Given the description of an element on the screen output the (x, y) to click on. 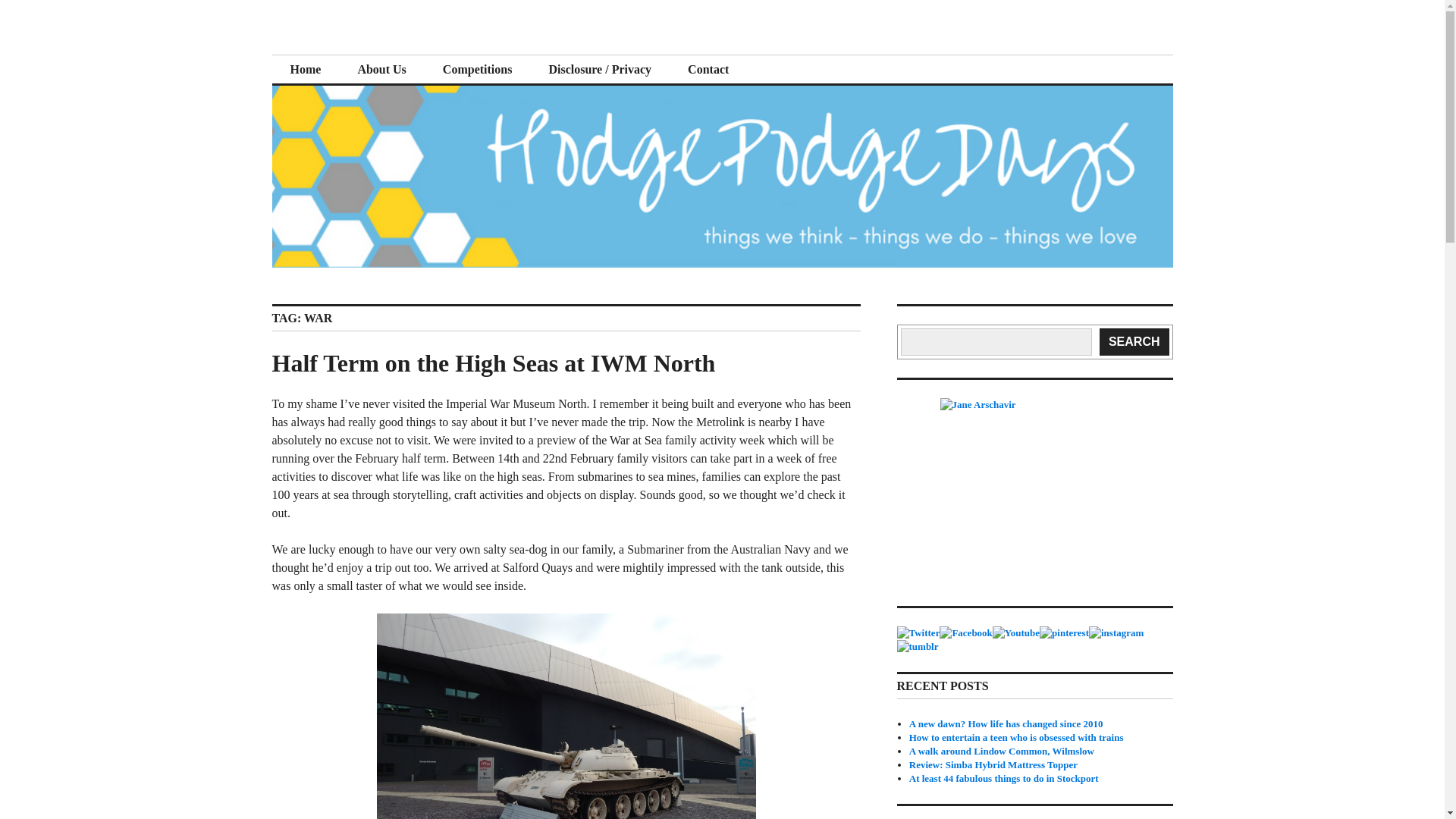
Contact (707, 69)
SEARCH (1134, 341)
A walk around Lindow Common, Wilmslow (1001, 750)
HodgePodgeDays (384, 53)
Half Term on the High Seas at IWM North (492, 362)
How to entertain a teen who is obsessed with trains (1016, 737)
Competitions (478, 69)
A new dawn? How life has changed since 2010 (1005, 723)
At least 44 fabulous things to do in Stockport (1003, 778)
About Us (381, 69)
